Given the description of an element on the screen output the (x, y) to click on. 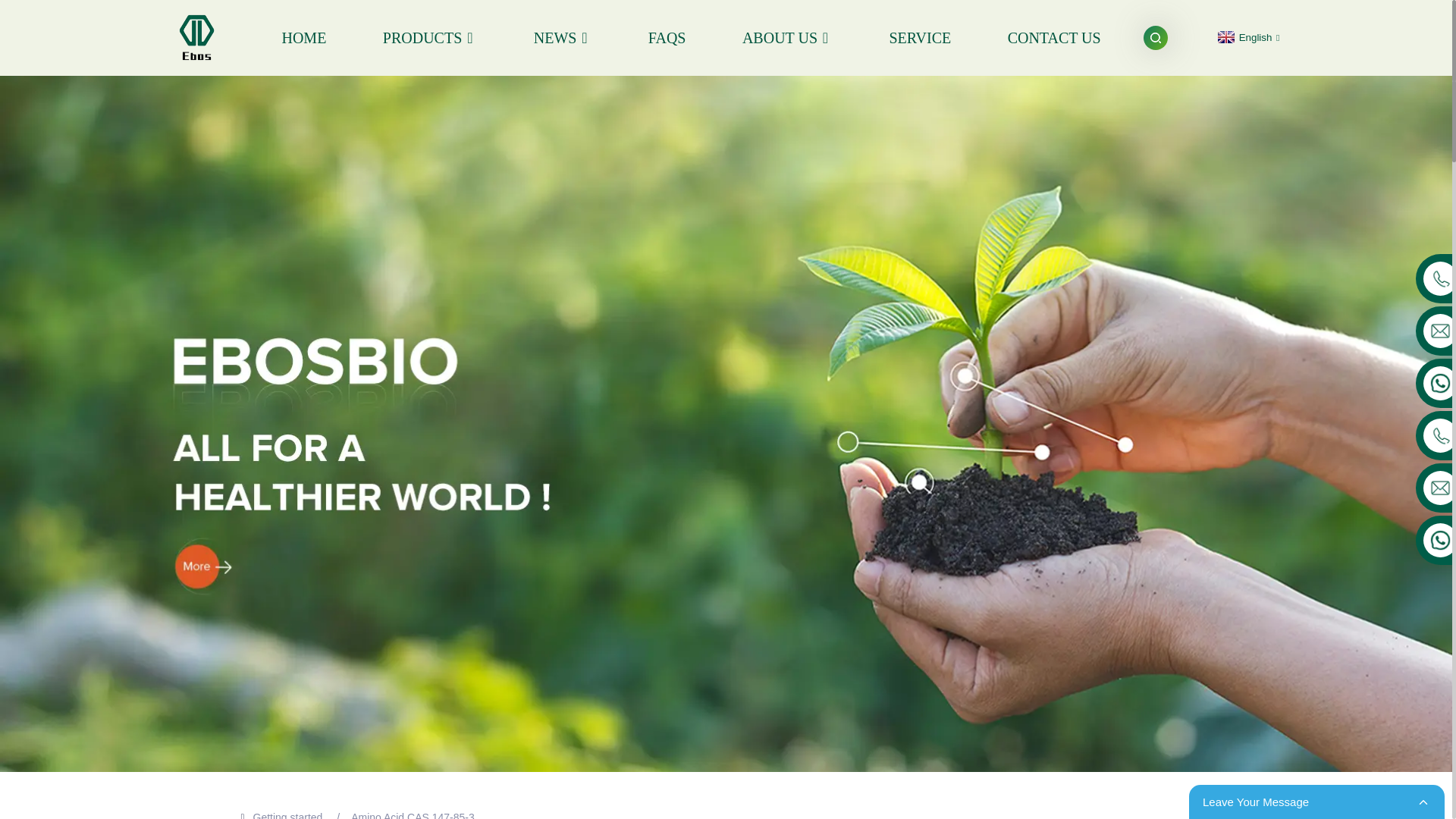
FAQS (666, 36)
English (1246, 37)
CONTACT US (1053, 36)
PRODUCTS (429, 36)
ABOUT US (787, 36)
NEWS (563, 36)
Getting started (288, 815)
Amino Acid CAS 147-85-3 (412, 815)
HOME (303, 36)
SERVICE (919, 36)
